Given the description of an element on the screen output the (x, y) to click on. 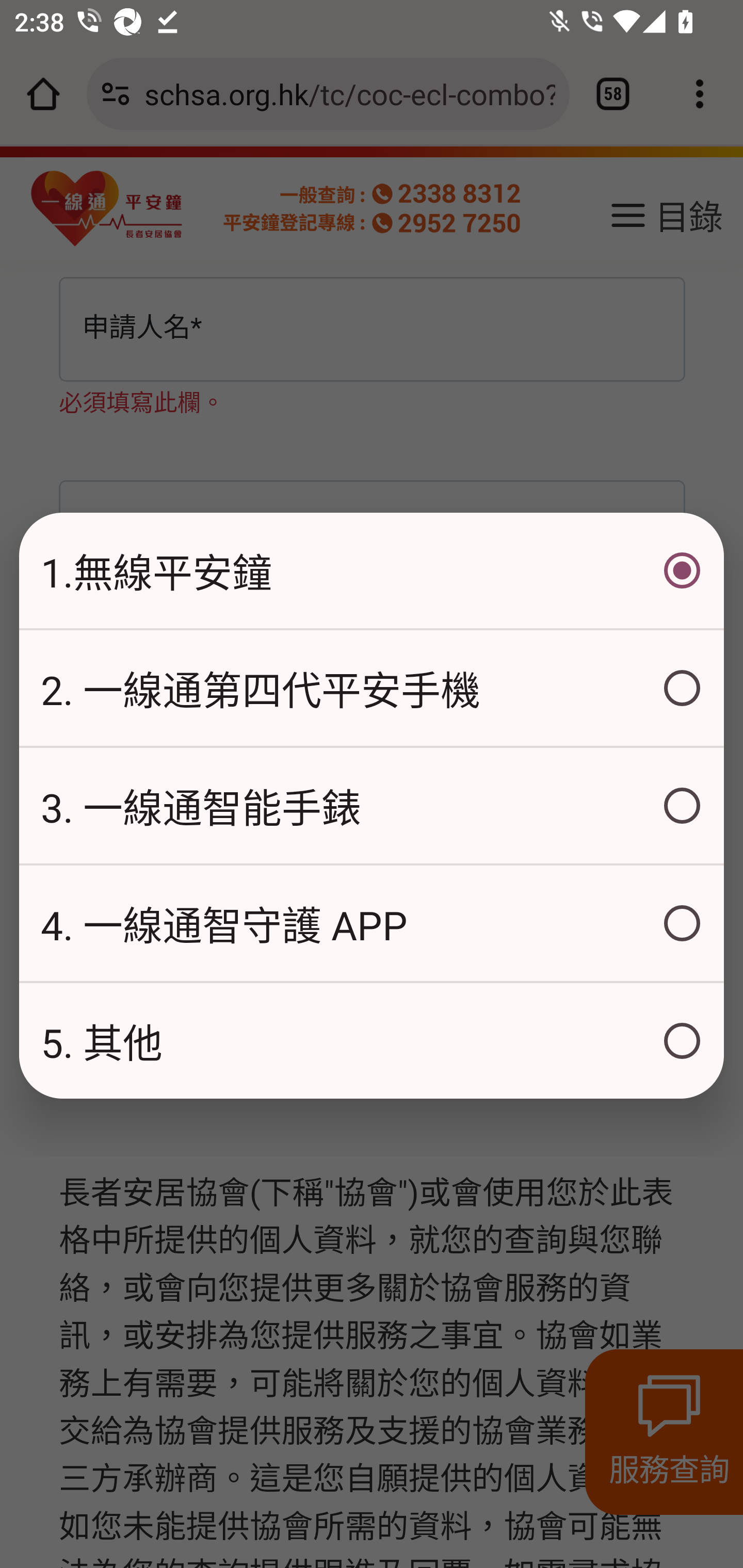
1.無線平安鐘 (371, 570)
2. 一線通第四代平安手機 (371, 688)
3. 一線通智能手錶 (371, 805)
4. 一線通智守護 APP (371, 923)
5. 其他 (371, 1041)
